Given the description of an element on the screen output the (x, y) to click on. 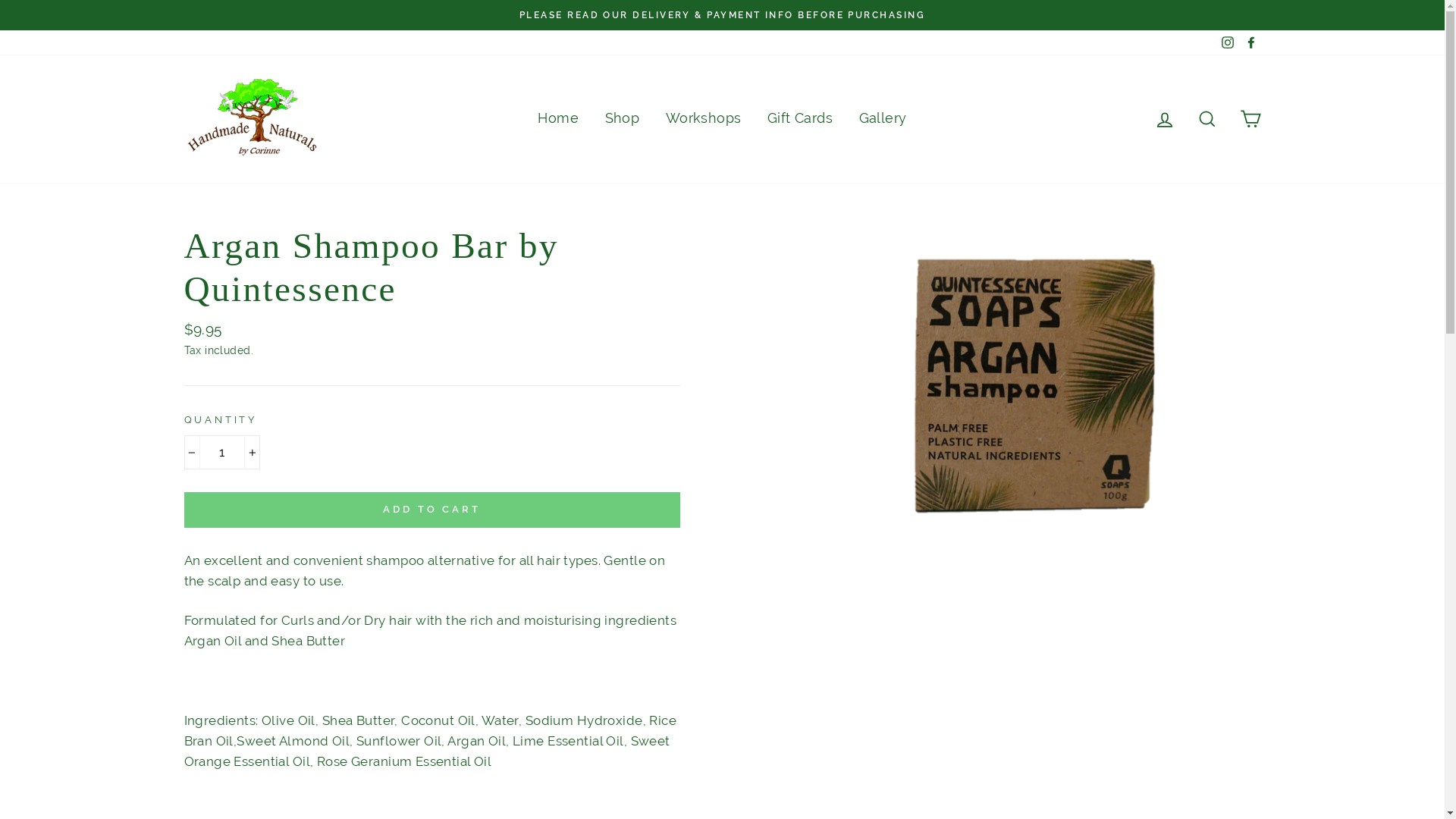
Workshops Element type: text (703, 118)
ADD TO CART Element type: text (431, 509)
Cart Element type: text (1249, 118)
Facebook Element type: text (1250, 42)
Log in Element type: text (1164, 118)
Home Element type: text (557, 118)
Instagram Element type: text (1227, 42)
Skip to content Element type: text (0, 0)
Gallery Element type: text (882, 118)
Shop Element type: text (622, 118)
PLEASE READ OUR DELIVERY & PAYMENT INFO BEFORE PURCHASING Element type: text (722, 14)
Search Element type: text (1206, 118)
Gift Cards Element type: text (800, 118)
+ Element type: text (252, 452)
